Given the description of an element on the screen output the (x, y) to click on. 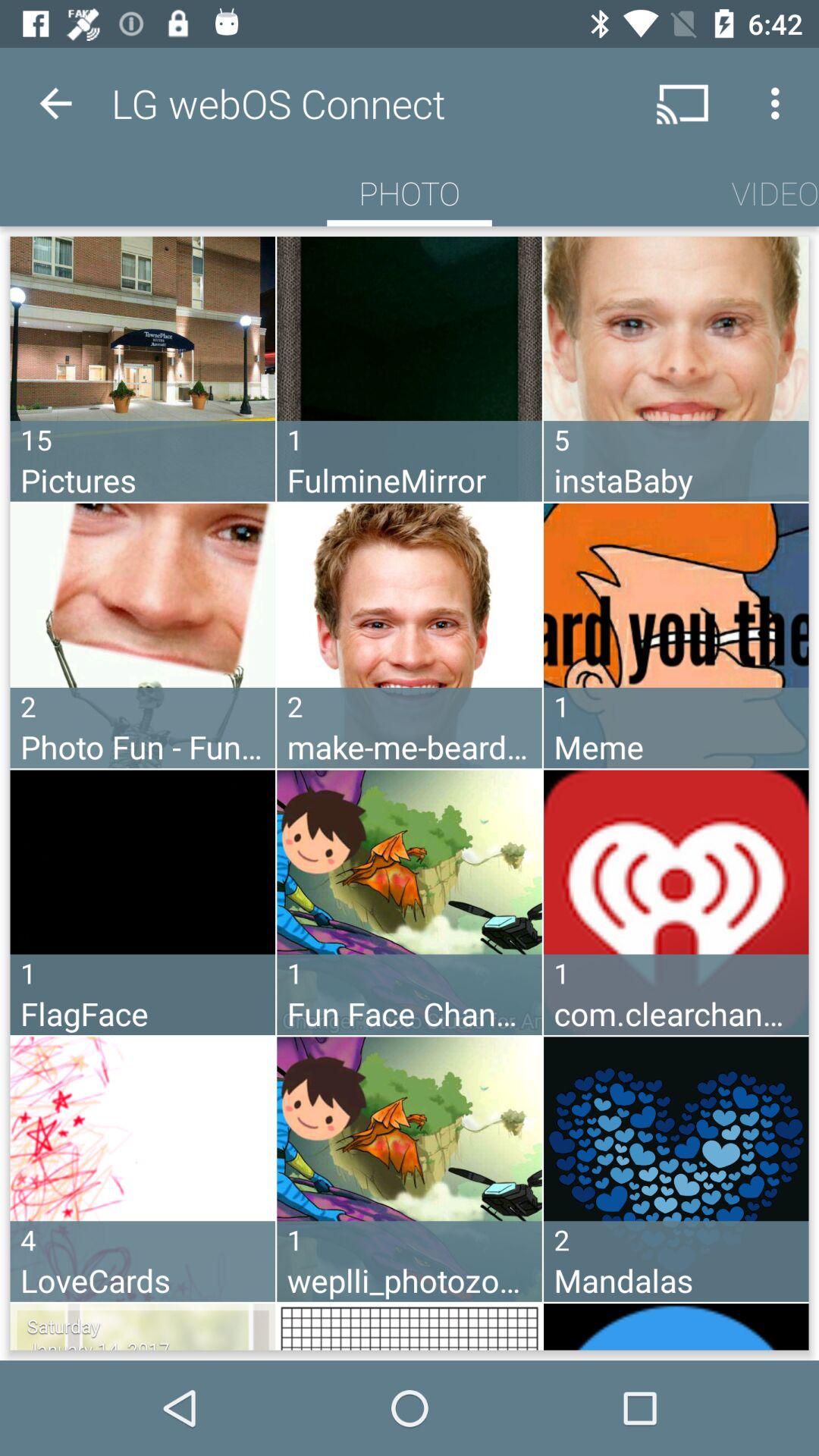
turn off the item to the left of the lg webos connect icon (55, 103)
